Given the description of an element on the screen output the (x, y) to click on. 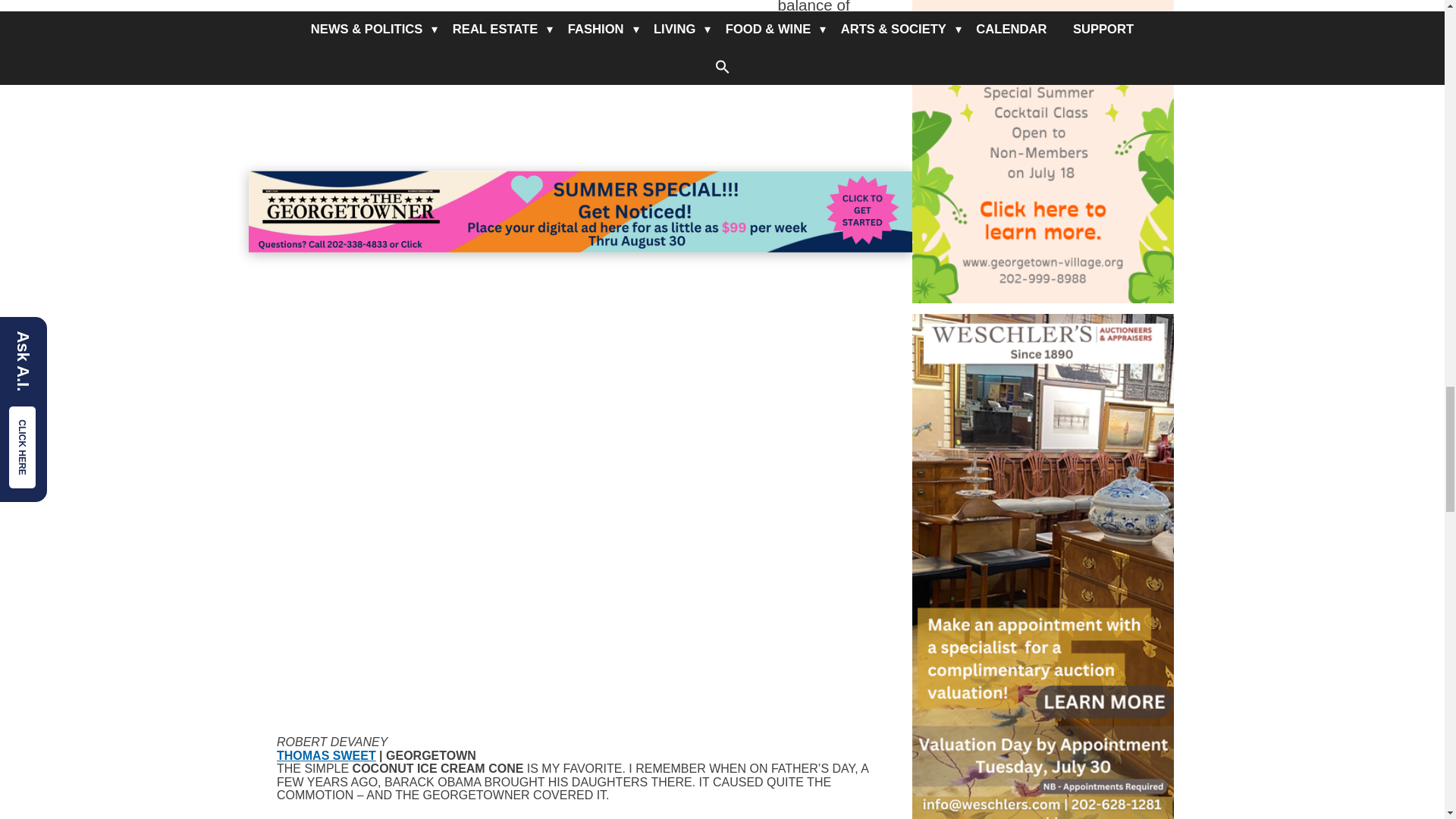
Jaron Ad 2 (580, 211)
